Given the description of an element on the screen output the (x, y) to click on. 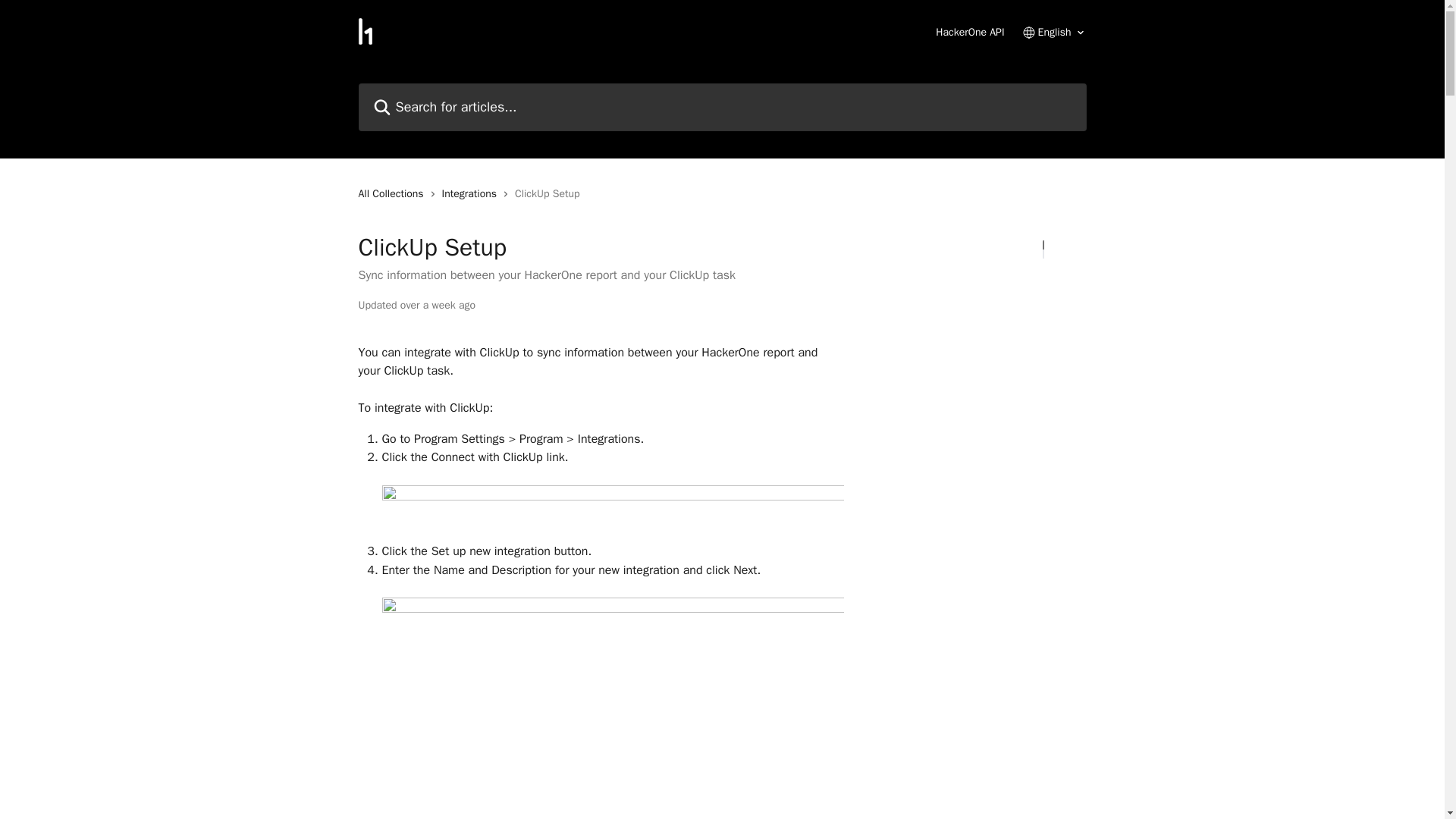
Integrations (472, 193)
HackerOne API (970, 32)
All Collections (393, 193)
